Given the description of an element on the screen output the (x, y) to click on. 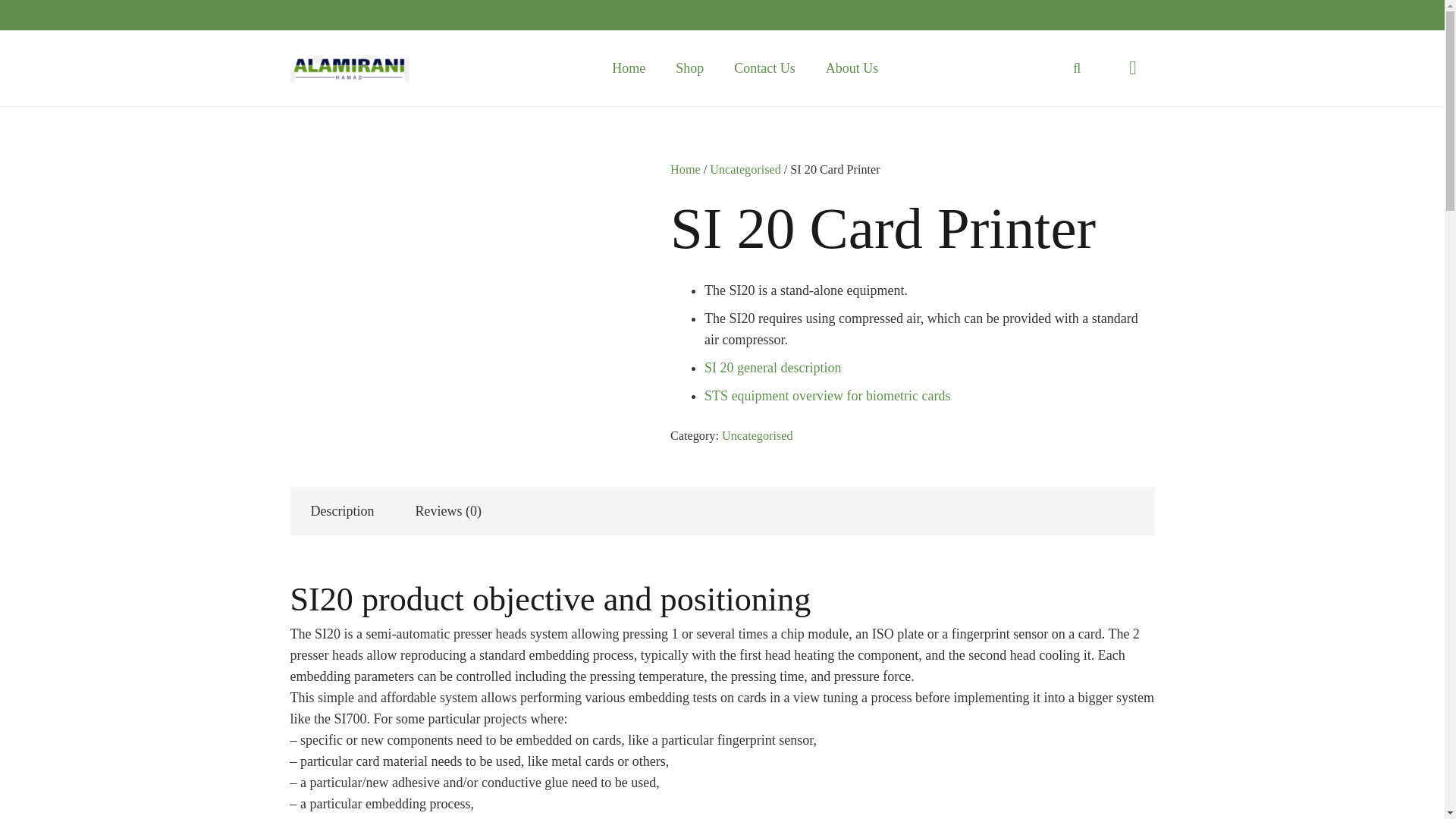
SI 20 general description (772, 367)
Description (341, 510)
STS equipment overview for biometric cards (827, 395)
STS equipment overview for biometric cards (827, 395)
Contact Us (764, 68)
SI 20 general description (772, 367)
Uncategorised (745, 169)
About Us (851, 68)
Uncategorised (757, 436)
Home (684, 169)
